Given the description of an element on the screen output the (x, y) to click on. 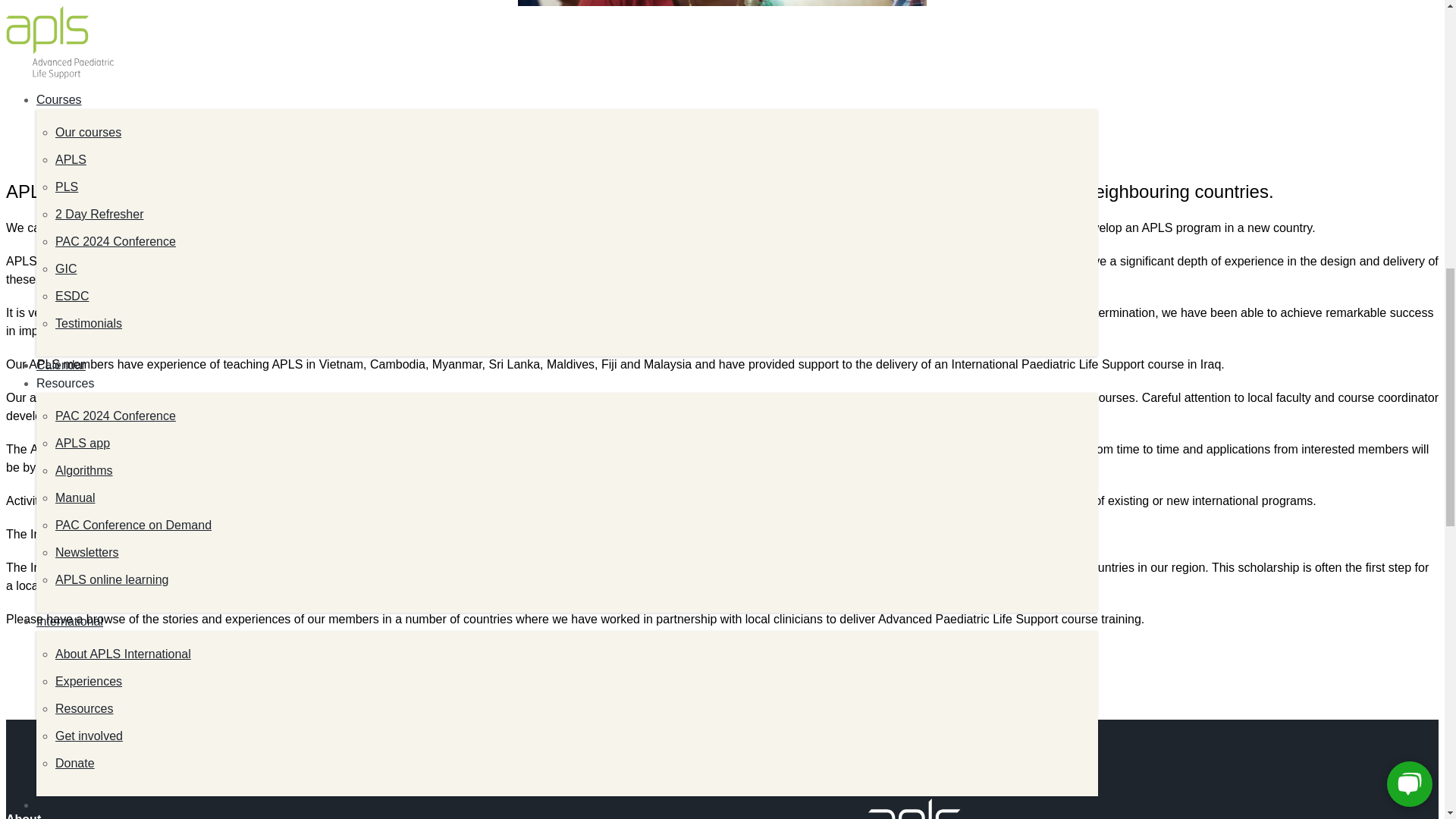
Donate Now (61, 40)
